Given the description of an element on the screen output the (x, y) to click on. 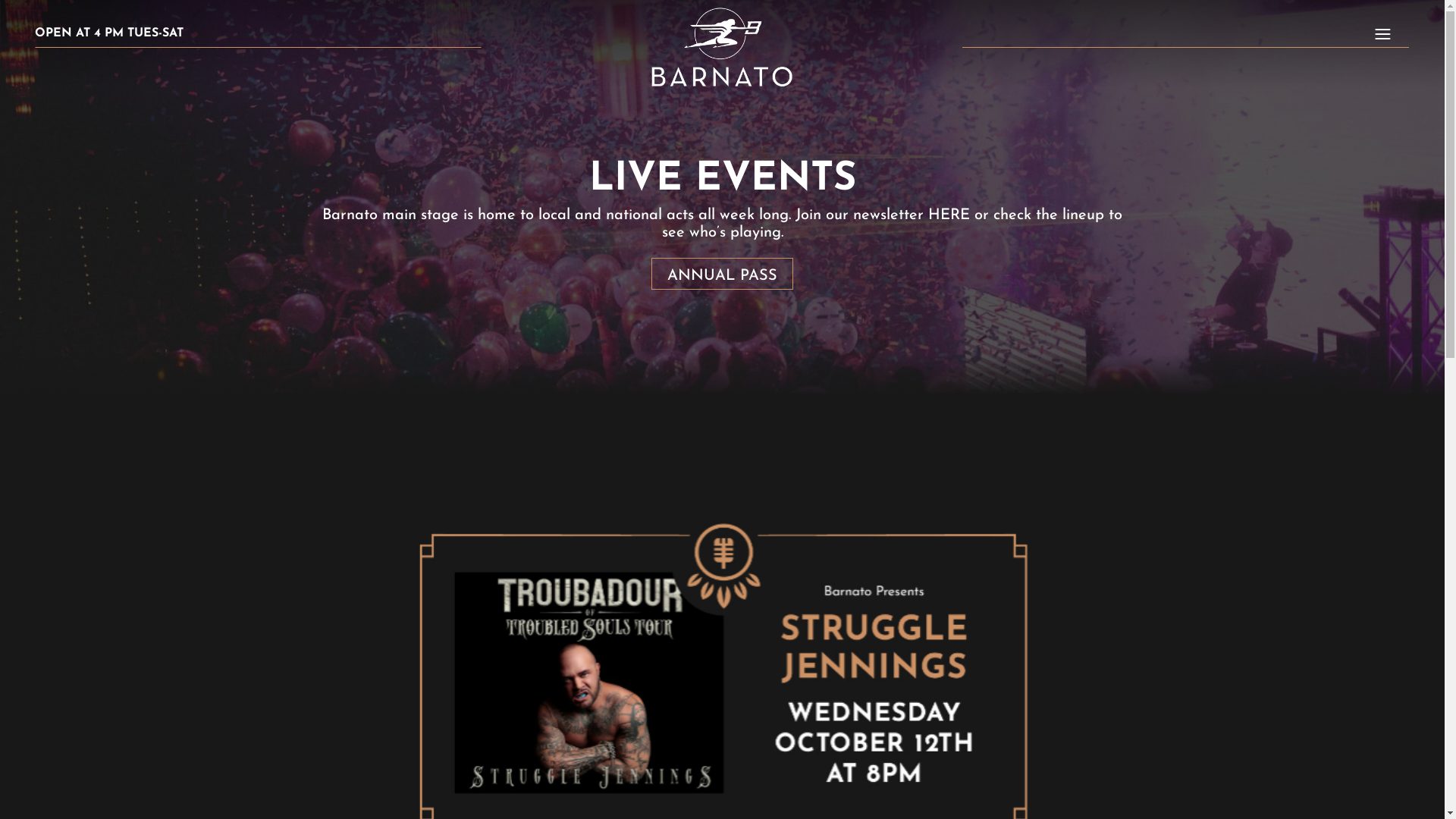
ANNUAL PASS Element type: text (722, 273)
barnato_logo_white1 Element type: hover (722, 46)
